Given the description of an element on the screen output the (x, y) to click on. 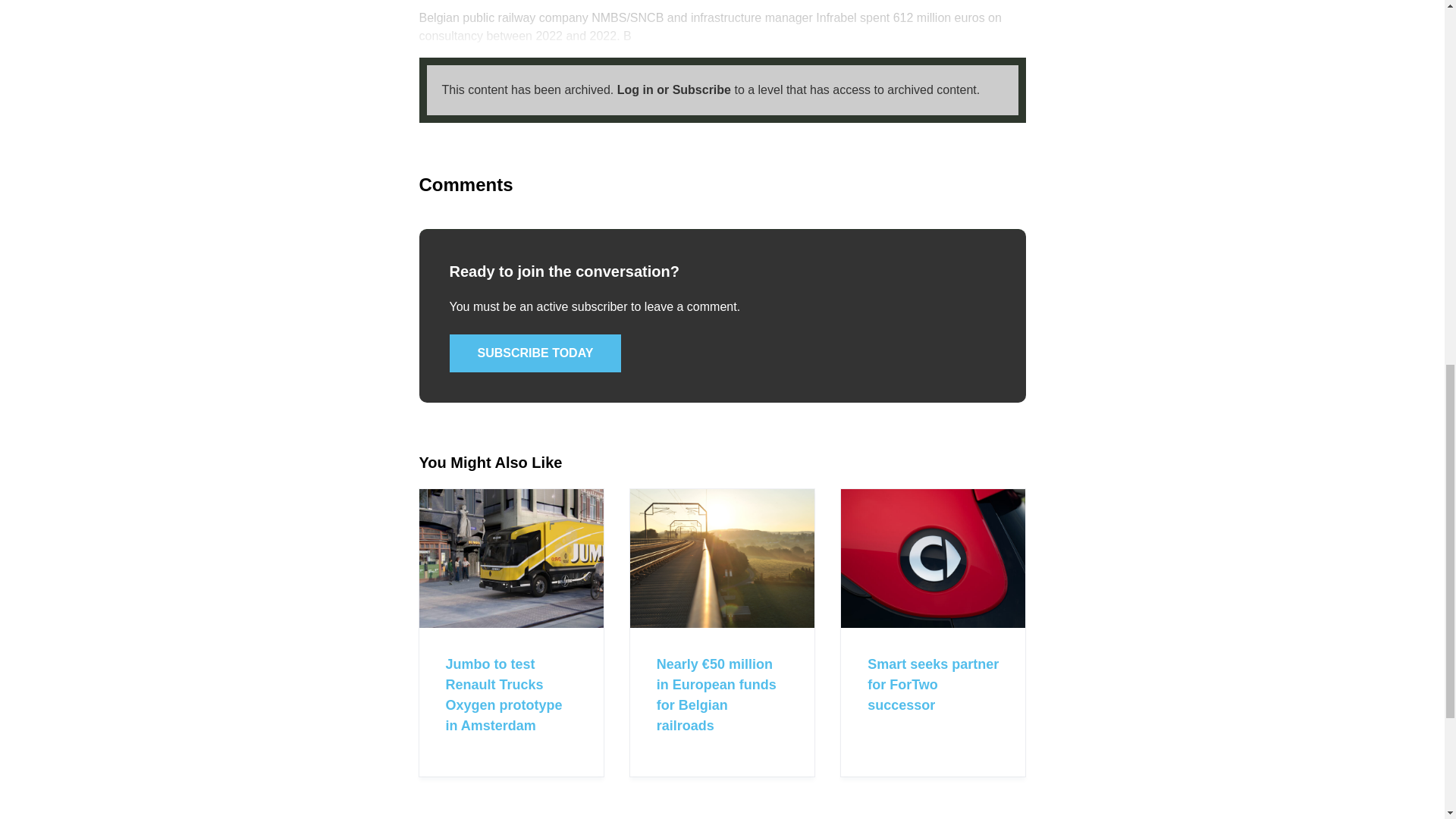
Jumbo to test Renault Trucks Oxygen prototype in Amsterdam (503, 694)
Log in or Subscribe (673, 89)
SUBSCRIBE TODAY (534, 353)
Smart seeks partner for ForTwo successor (932, 684)
